Given the description of an element on the screen output the (x, y) to click on. 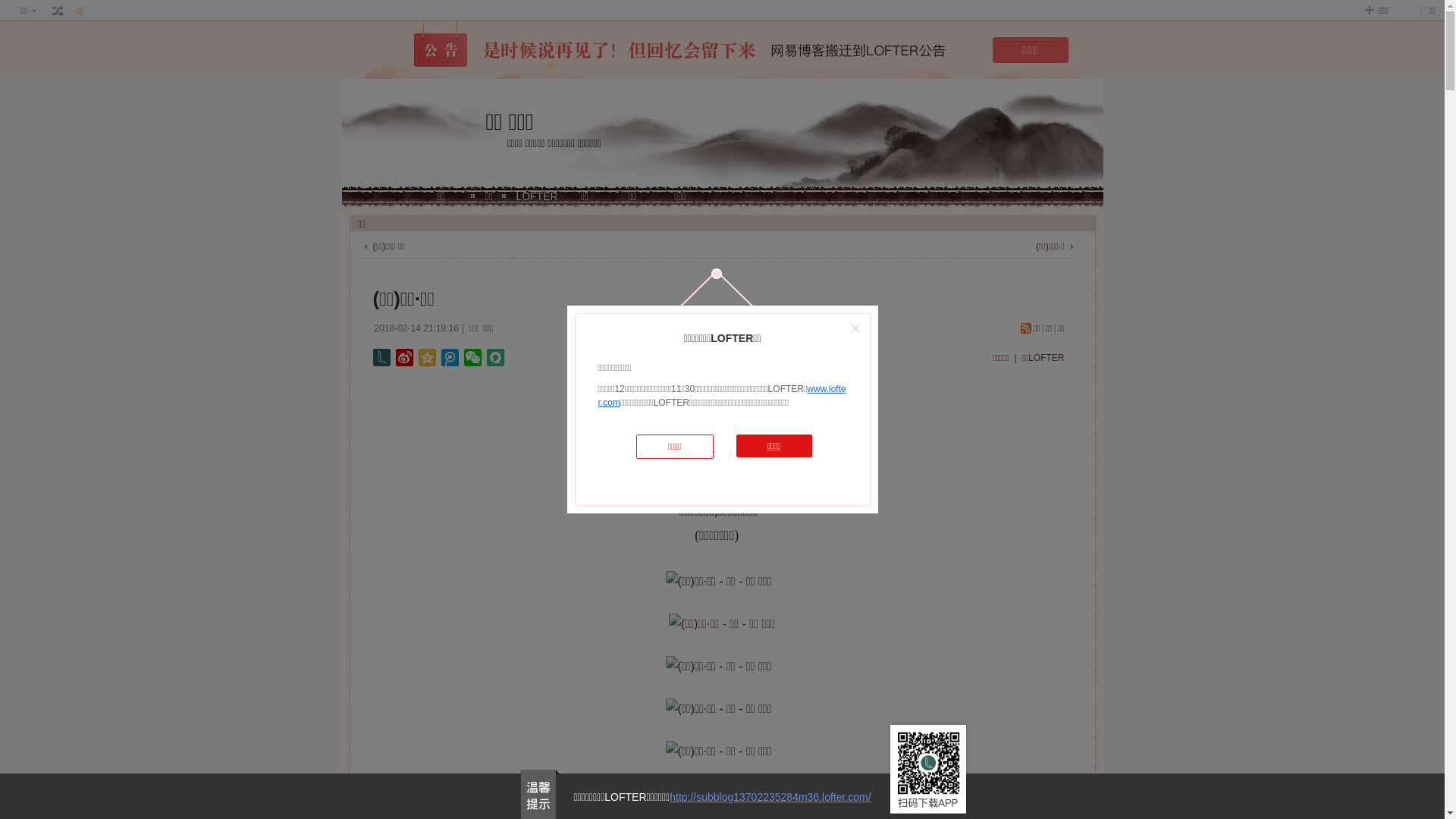
  Element type: text (58, 10)
www.lofter.com Element type: text (721, 395)
http://subblog13702235284m36.lofter.com/ Element type: text (769, 796)
LOFTER Element type: text (536, 196)
